Given the description of an element on the screen output the (x, y) to click on. 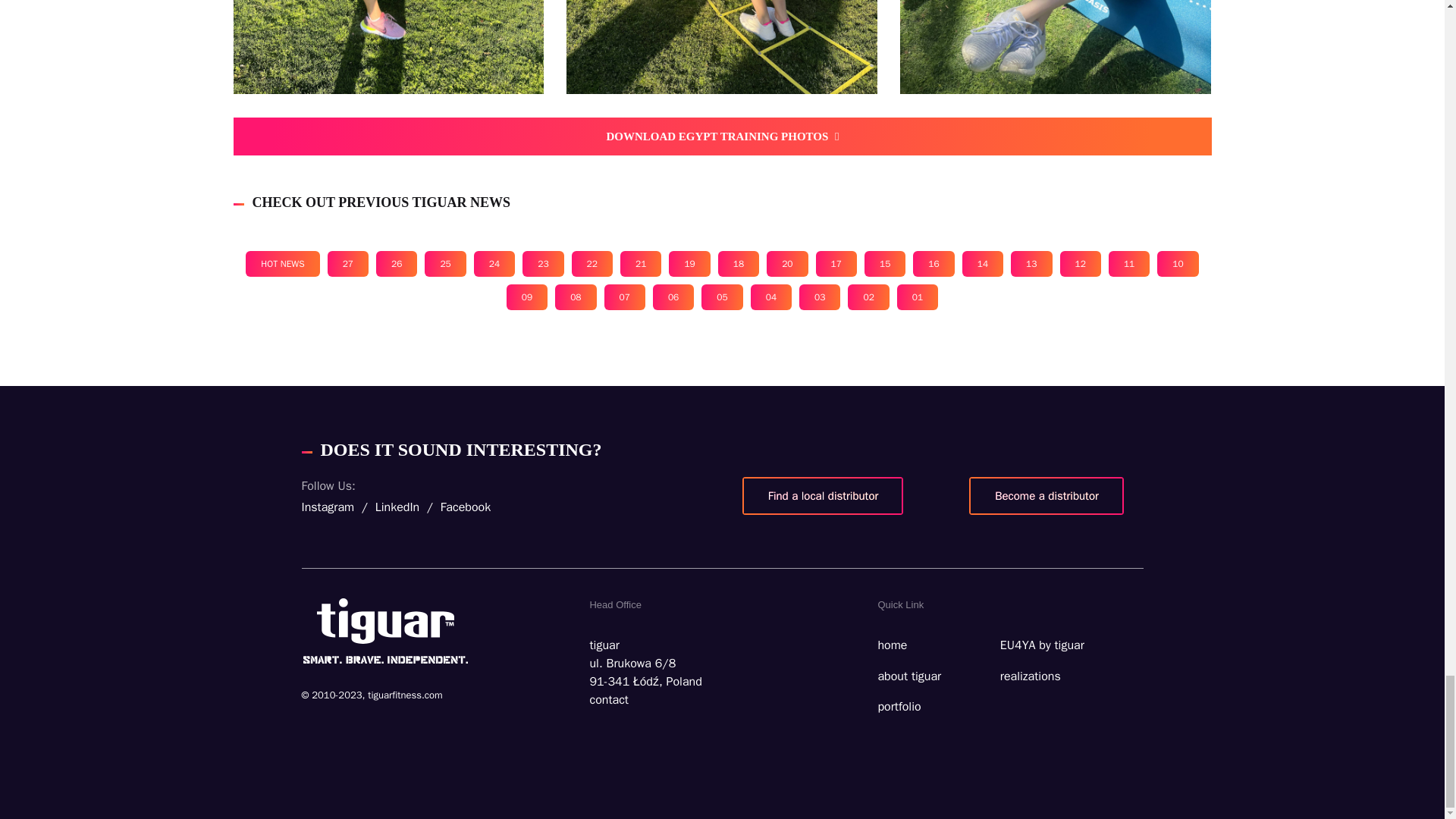
16 (932, 263)
18 (737, 263)
19 (689, 263)
15 (884, 263)
20 (787, 263)
26 (395, 263)
21 (640, 263)
DOWNLOAD EGYPT TRAINING PHOTOS (721, 136)
27 (347, 263)
25 (445, 263)
23 (542, 263)
HOT NEWS (282, 263)
22 (592, 263)
12 (1079, 263)
14 (982, 263)
